Given the description of an element on the screen output the (x, y) to click on. 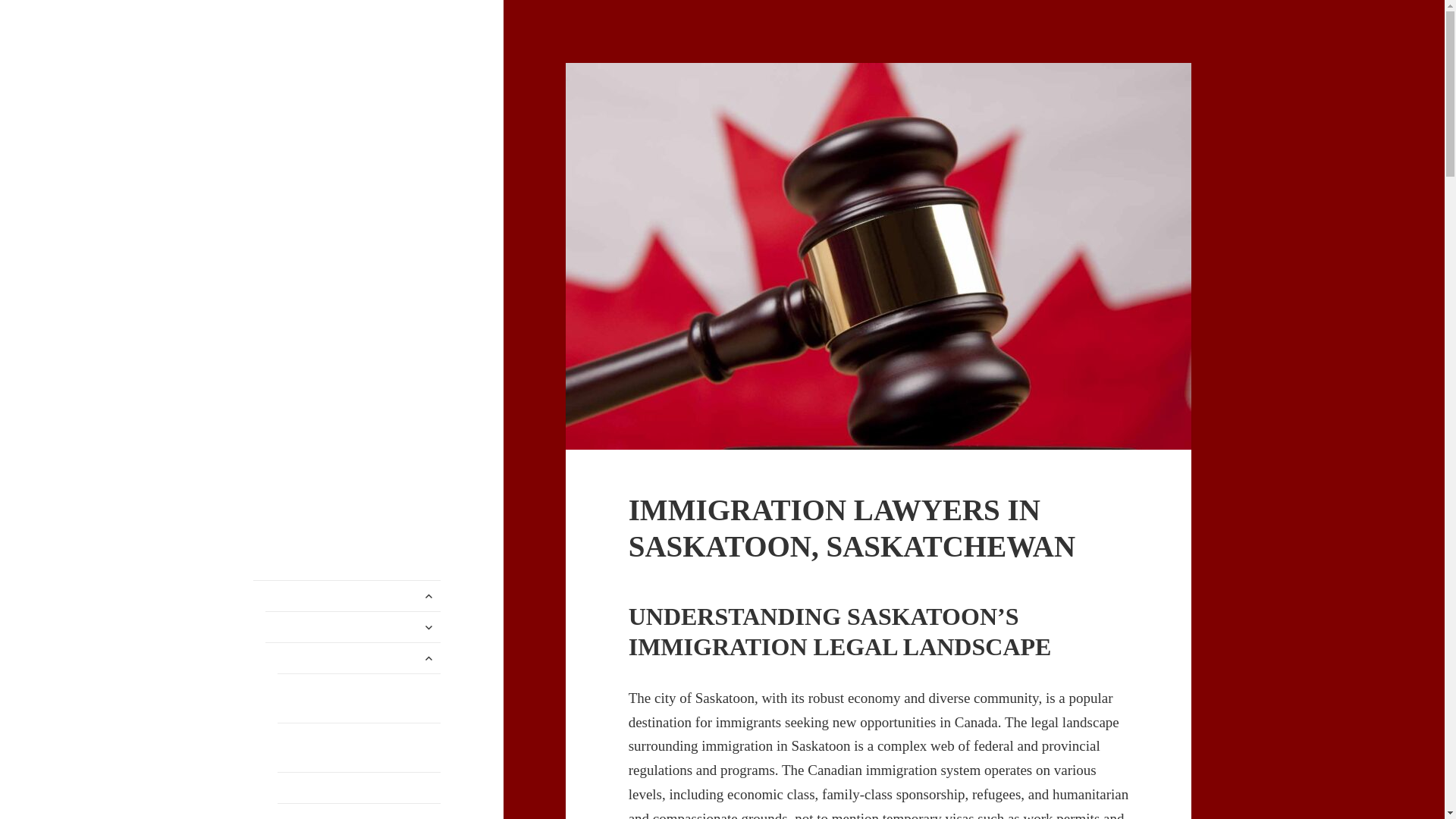
Practice Areas (352, 626)
Immigration Lawyers in Canada (346, 86)
expand child menu (428, 595)
expand child menu (428, 627)
Home (347, 595)
